Given the description of an element on the screen output the (x, y) to click on. 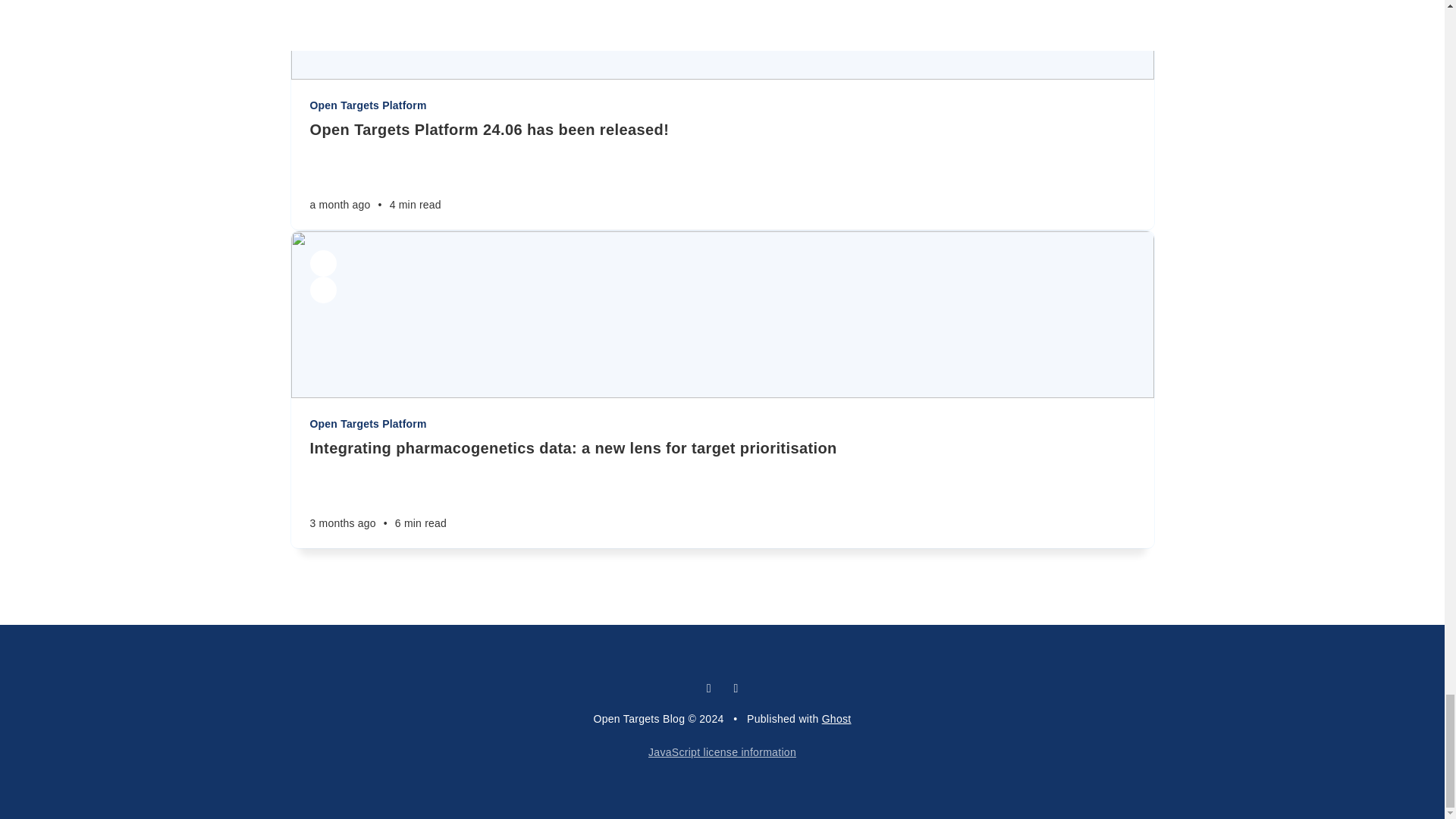
Open Targets Platform 24.06 has been released! (721, 129)
